Given the description of an element on the screen output the (x, y) to click on. 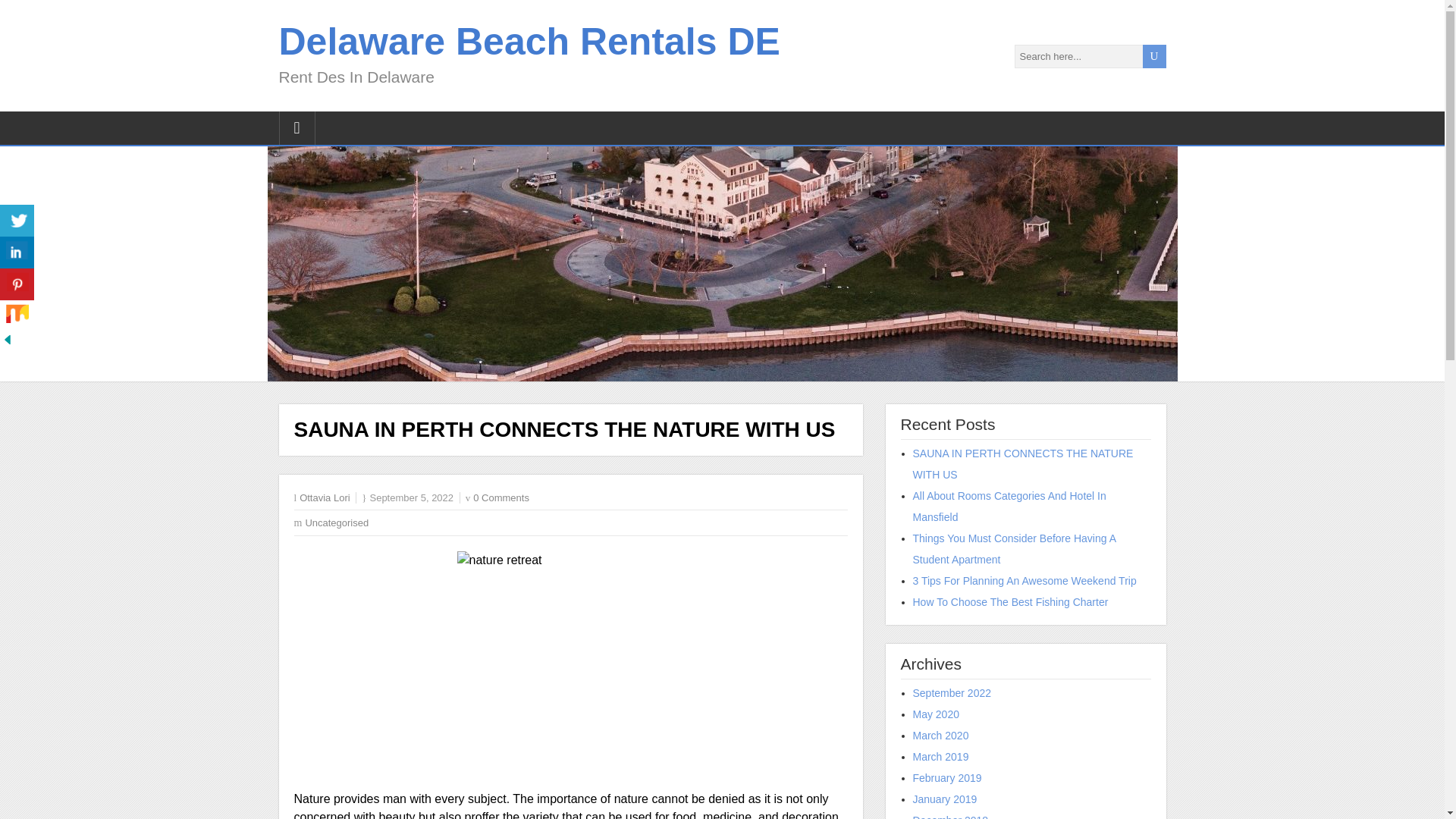
March 2020 (940, 735)
nature retreat (570, 664)
U (1153, 55)
March 2019 (940, 756)
U (1153, 55)
0 Comments (501, 497)
May 2020 (935, 714)
SAUNA IN PERTH CONNECTS THE NATURE WITH US (1023, 463)
Share On Pinterest (16, 284)
Delaware Beach Rentals DE (529, 41)
